Given the description of an element on the screen output the (x, y) to click on. 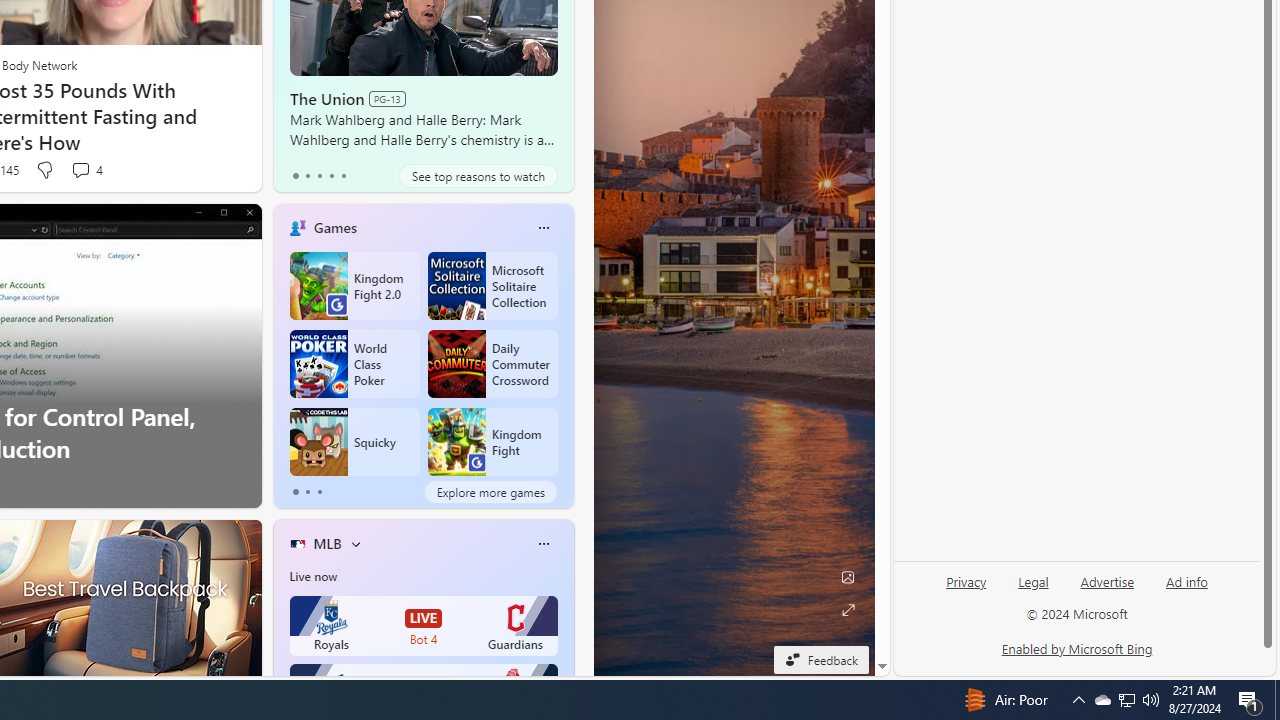
Privacy (965, 582)
Ad info (1187, 582)
Expand background (847, 610)
Advertise (1106, 589)
Edit Background (847, 577)
View comments 4 Comment (86, 170)
See top reasons to watch (478, 175)
Ad info (1186, 589)
tab-3 (331, 175)
More interests (355, 543)
Legal (1033, 589)
View comments 4 Comment (80, 169)
tab-2 (319, 491)
